Given the description of an element on the screen output the (x, y) to click on. 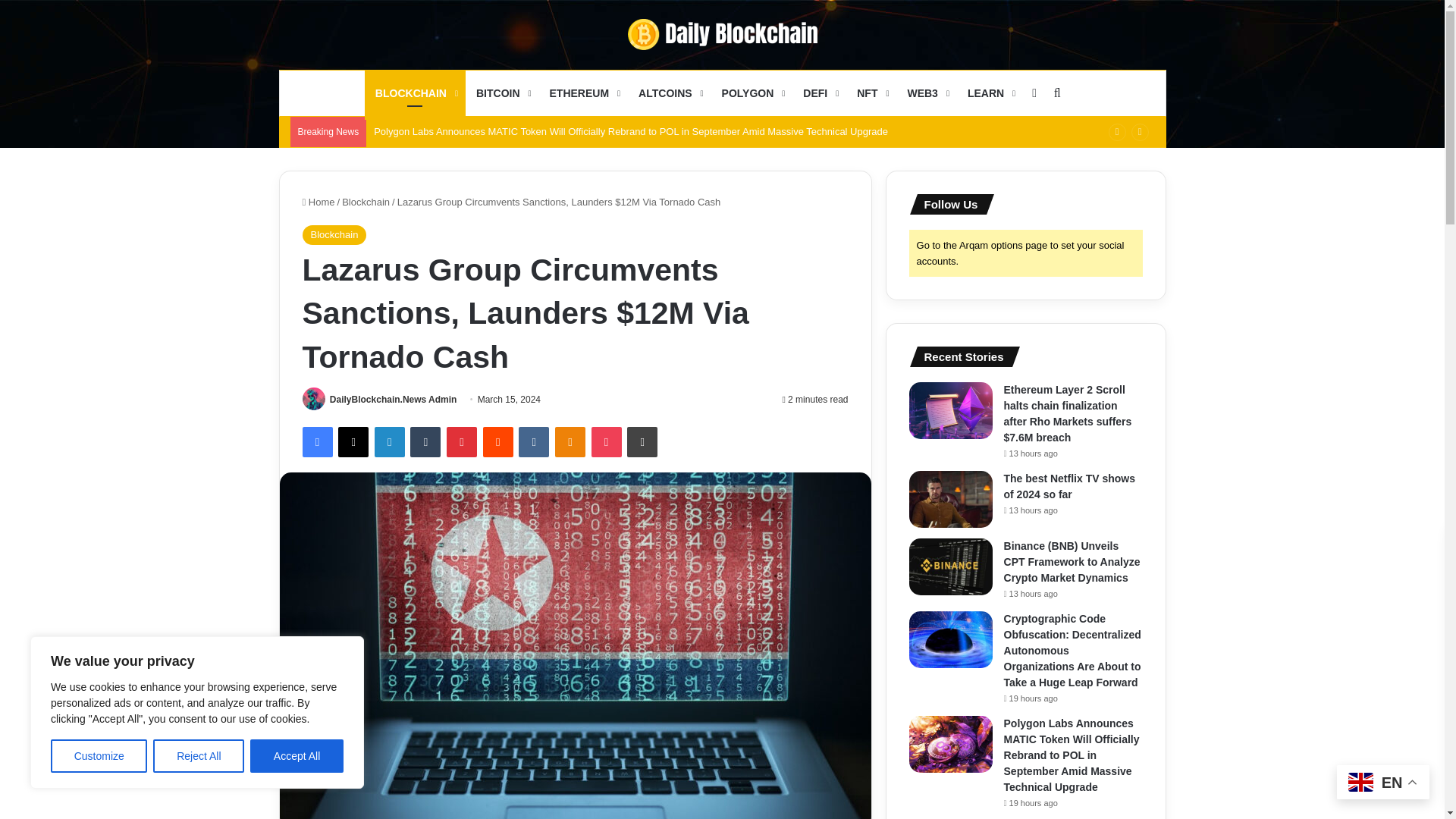
X (352, 440)
Blockchain (366, 202)
BLOCKCHAIN (415, 93)
Pocket (606, 440)
WEB3 (926, 93)
Facebook (316, 440)
Blockchain (333, 234)
DEFI (818, 93)
LEARN (989, 93)
Reject All (198, 756)
Home (317, 202)
Facebook (316, 440)
Sidebar (1034, 93)
LinkedIn (389, 440)
